Given the description of an element on the screen output the (x, y) to click on. 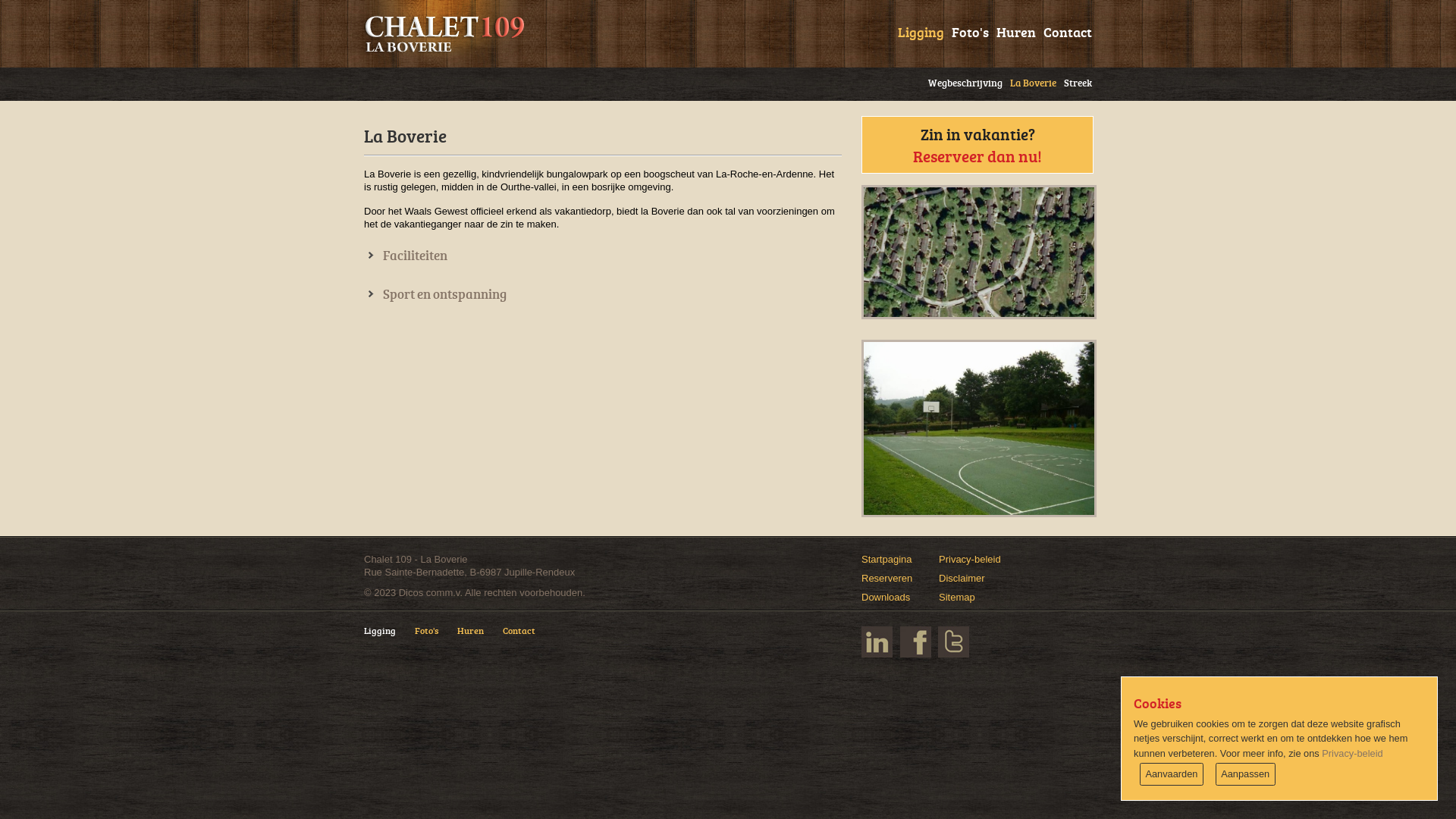
Sport en ontspanning Element type: text (435, 293)
Faciliteiten Element type: text (405, 254)
Startpagina Element type: text (886, 558)
deel op Twitter Element type: hover (953, 641)
Streek Element type: text (1074, 80)
La Boverie Element type: text (1029, 80)
Huren Element type: text (479, 637)
Zin in vakantie?
Reserveer dan nu! Element type: text (976, 144)
Foto's Element type: text (435, 637)
Ligging Element type: text (917, 29)
domein La Boverie Element type: hover (978, 252)
Dicos Element type: text (410, 592)
Contact Element type: text (1063, 29)
Aanvaarden Element type: text (1171, 773)
Contact Element type: text (528, 637)
deel op Facebook Element type: hover (915, 641)
Foto's Element type: text (966, 29)
Wegbeschrijving Element type: text (961, 80)
Privacy-beleid Element type: text (969, 558)
Reserveren Element type: text (886, 577)
Huren Element type: text (1011, 29)
deel op LinkedIn Element type: hover (876, 641)
basketbal Element type: hover (978, 428)
Downloads Element type: text (885, 596)
Aanpassen Element type: text (1245, 773)
Sitemap Element type: text (956, 596)
Disclaimer Element type: text (961, 577)
Ligging Element type: text (389, 637)
Privacy-beleid Element type: text (1351, 753)
